Given the description of an element on the screen output the (x, y) to click on. 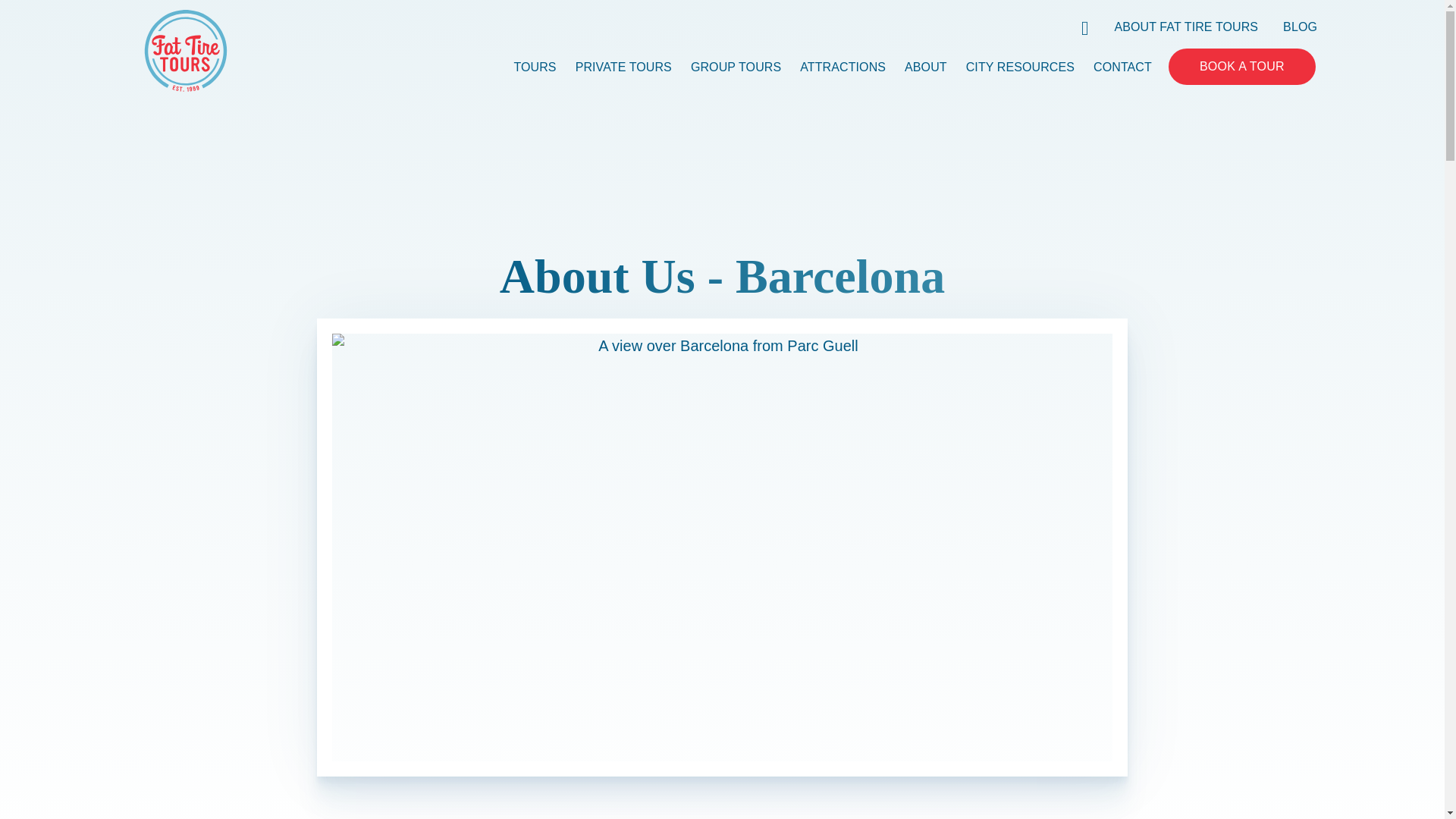
ABOUT (925, 66)
ABOUT FAT TIRE TOURS (1187, 25)
BLOG (1299, 25)
PRIVATE TOURS (623, 66)
CITY RESOURCES (1020, 66)
CONTACT (1122, 66)
TOURS (534, 66)
ATTRACTIONS (842, 66)
GROUP TOURS (735, 66)
BOOK A TOUR (1242, 66)
Fat Tire Tours (185, 48)
